Given the description of an element on the screen output the (x, y) to click on. 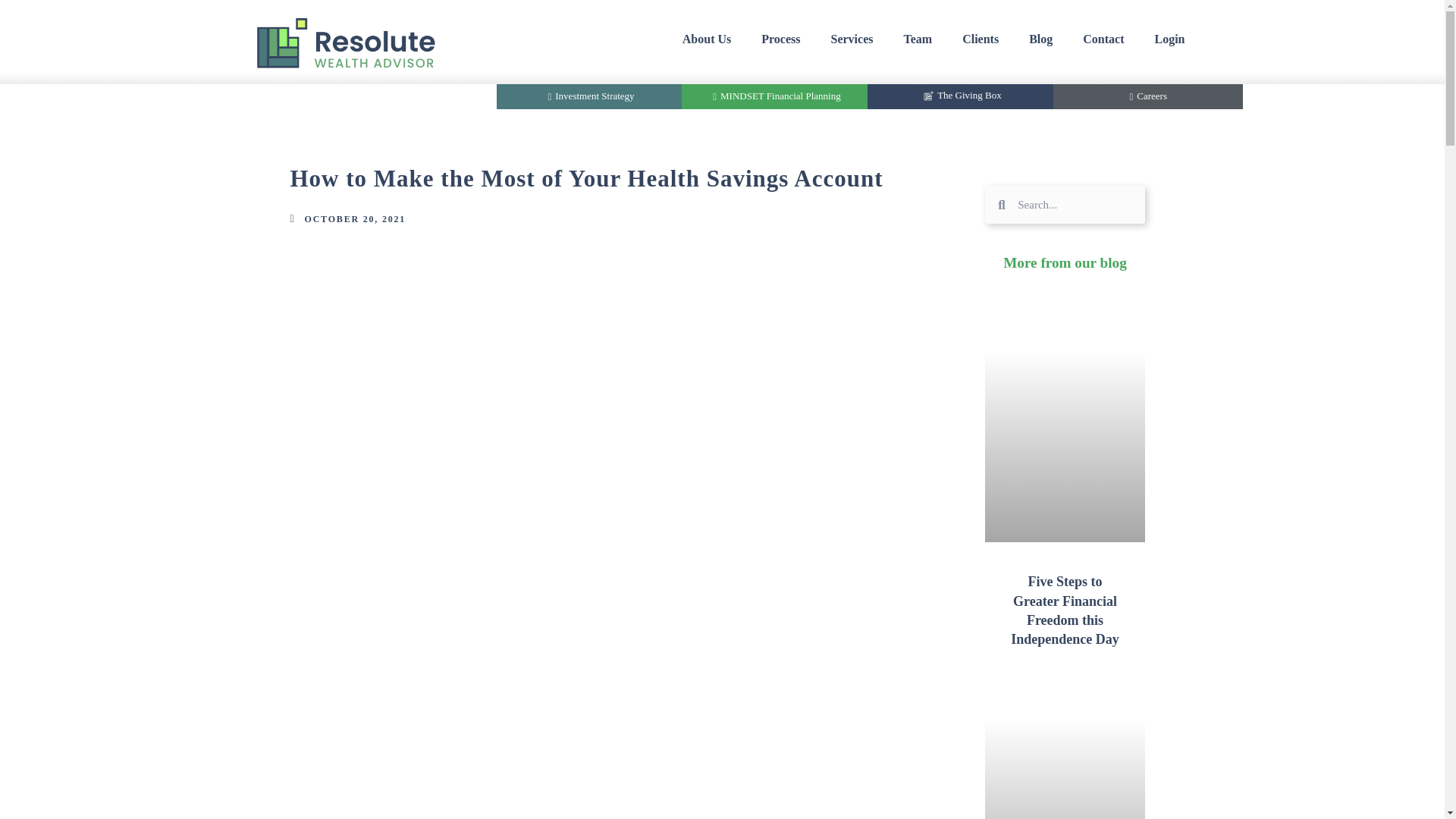
Services (851, 39)
About Us (705, 39)
Login (1168, 39)
Blog (1040, 39)
Process (780, 39)
Clients (980, 39)
Team (917, 39)
Contact (1102, 39)
